Given the description of an element on the screen output the (x, y) to click on. 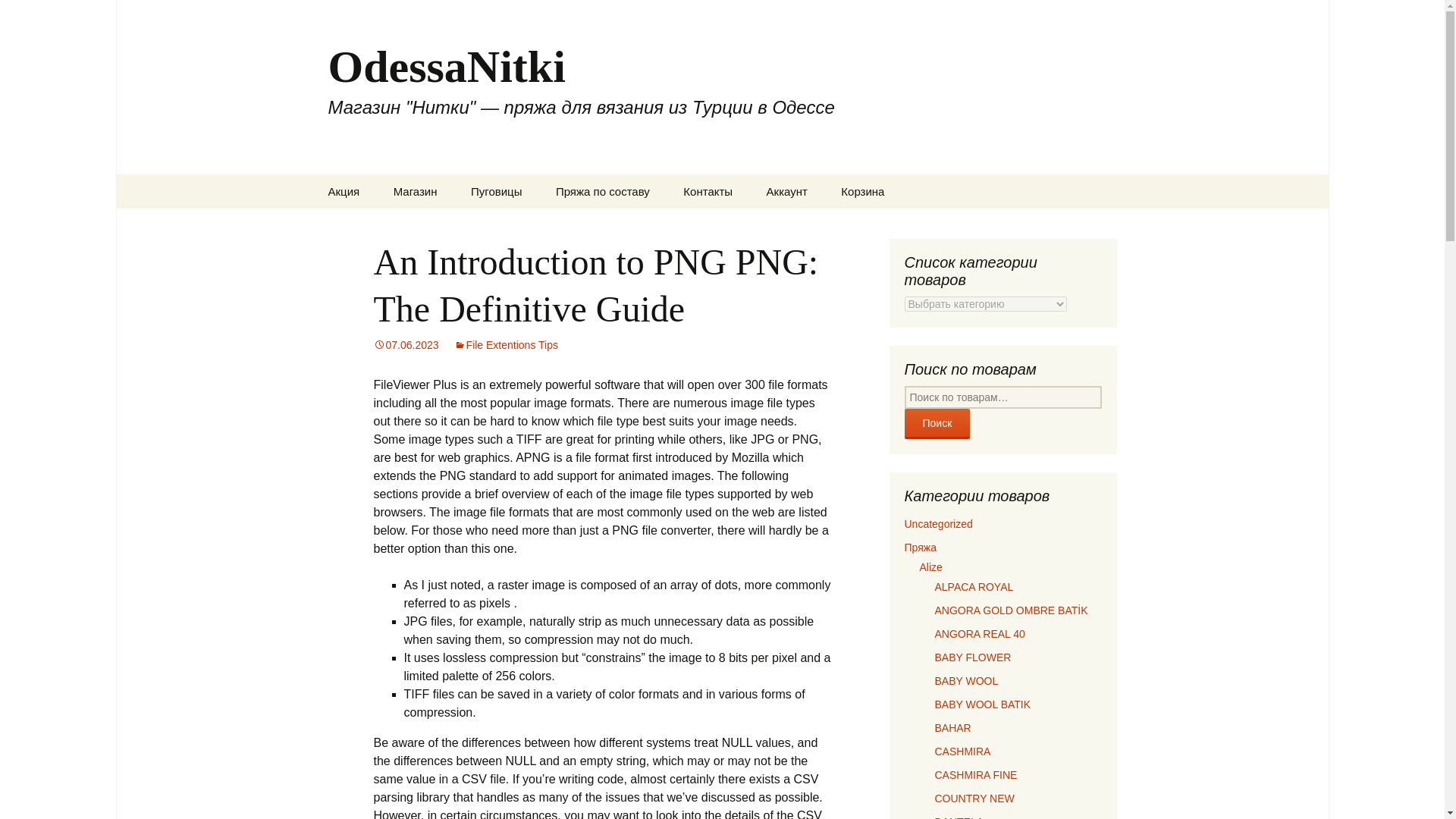
File Extentions Tips (505, 345)
Alize (453, 225)
07.06.2023 (405, 345)
